Given the description of an element on the screen output the (x, y) to click on. 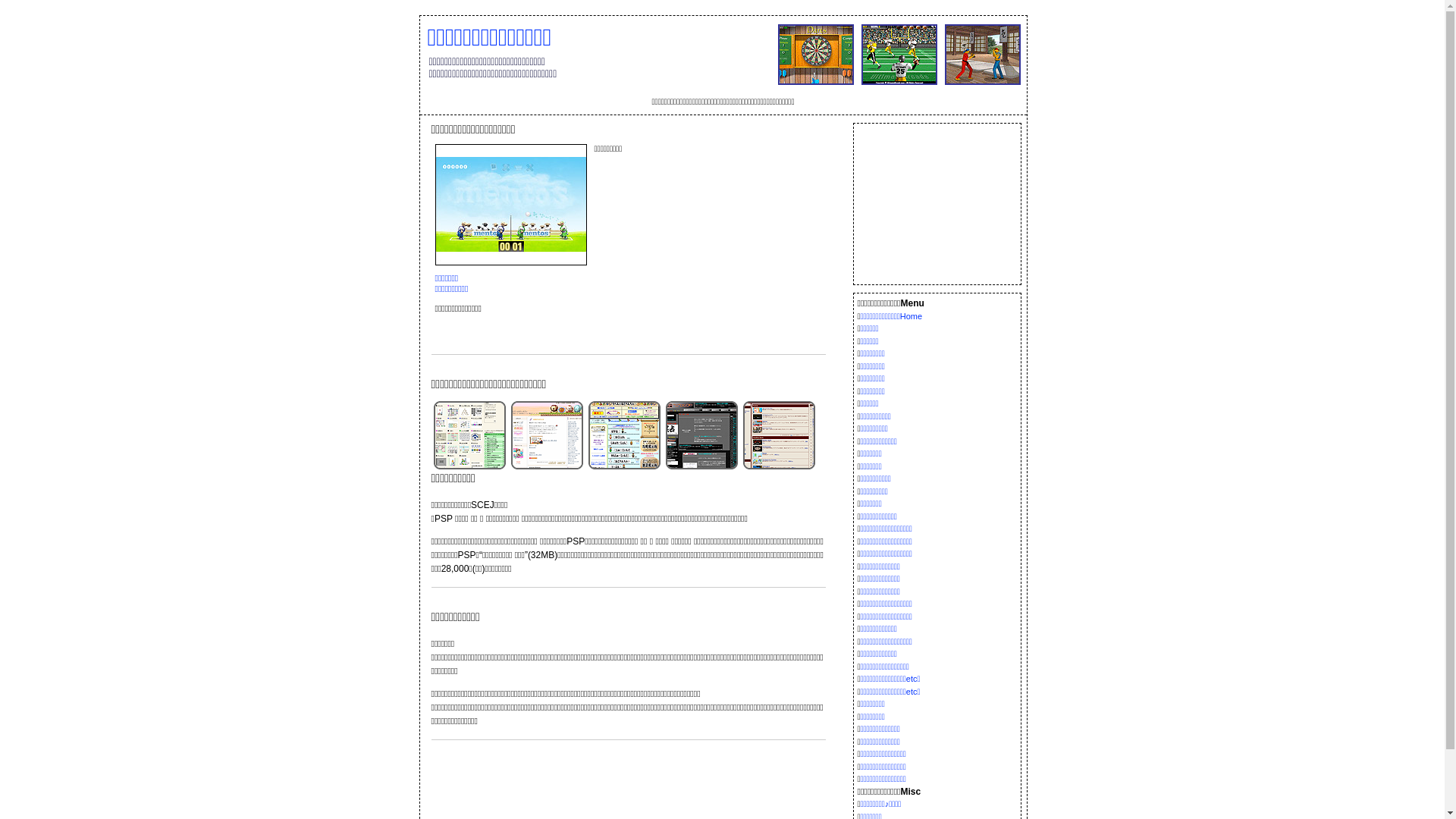
Advertisement Element type: hover (937, 203)
Advertisement Element type: hover (708, 247)
